Given the description of an element on the screen output the (x, y) to click on. 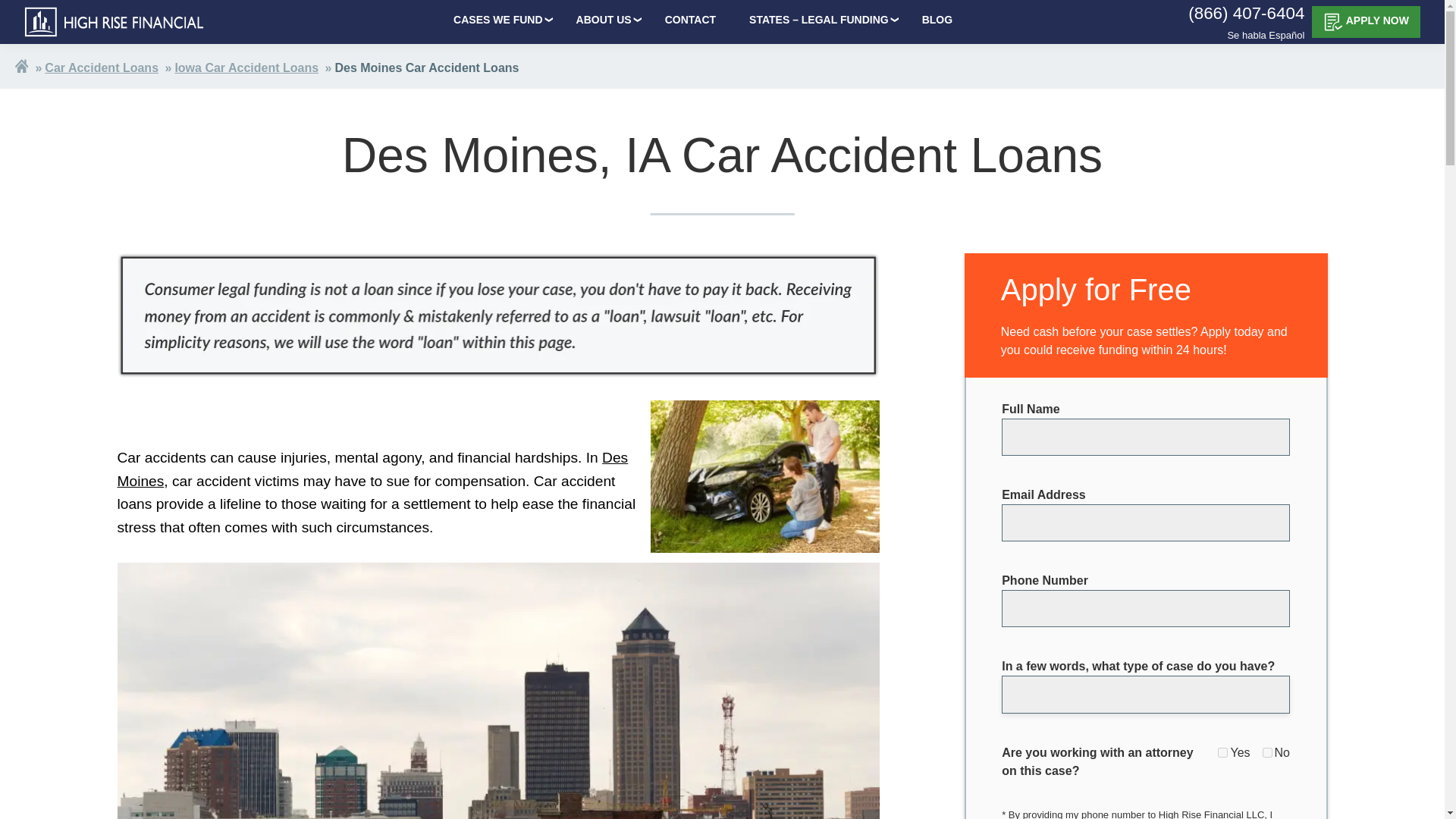
High Rise Financial (115, 21)
CASES WE FUND (497, 19)
No (1267, 752)
Yes (1222, 752)
